Given the description of an element on the screen output the (x, y) to click on. 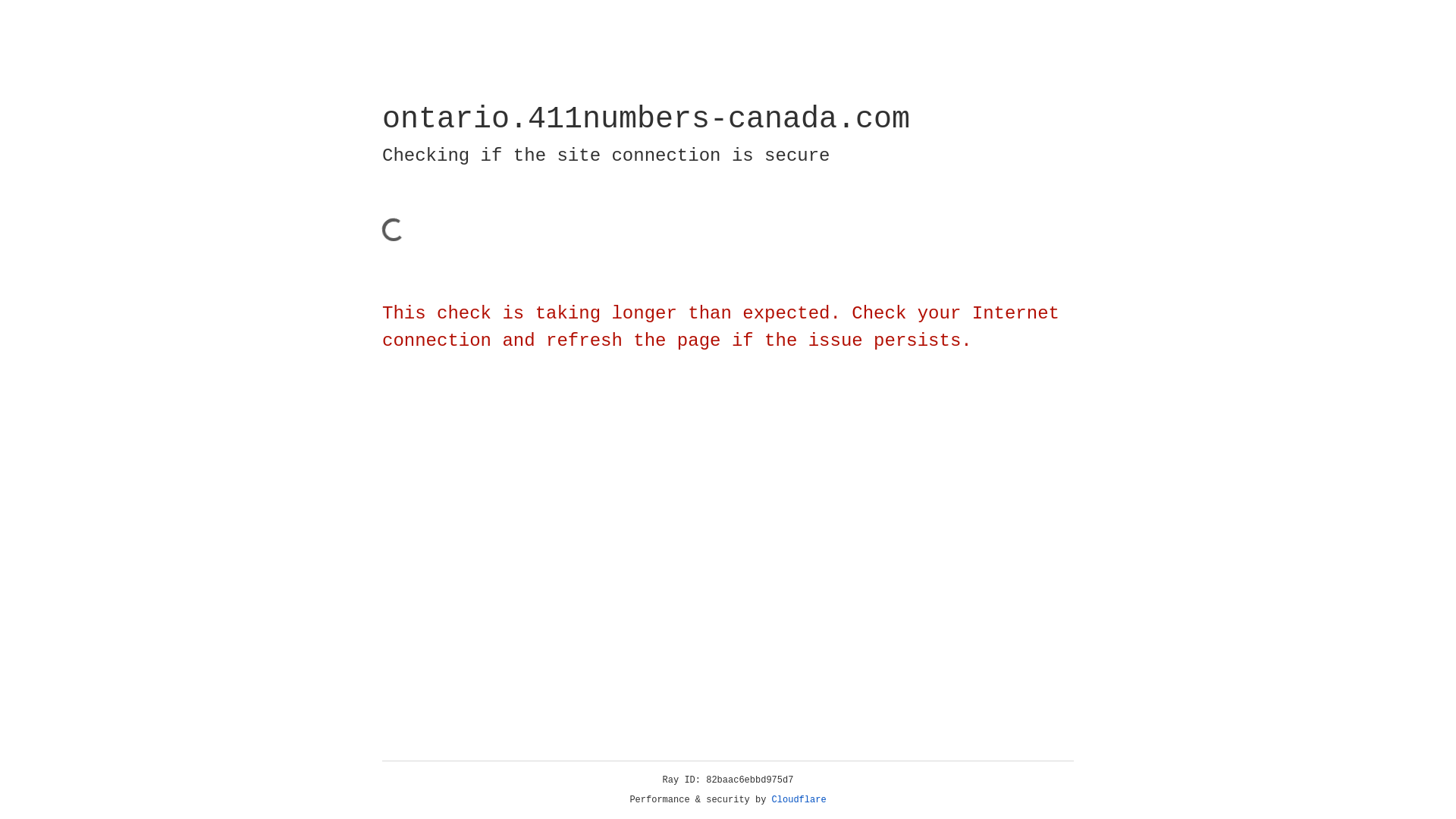
Cloudflare Element type: text (798, 799)
